Given the description of an element on the screen output the (x, y) to click on. 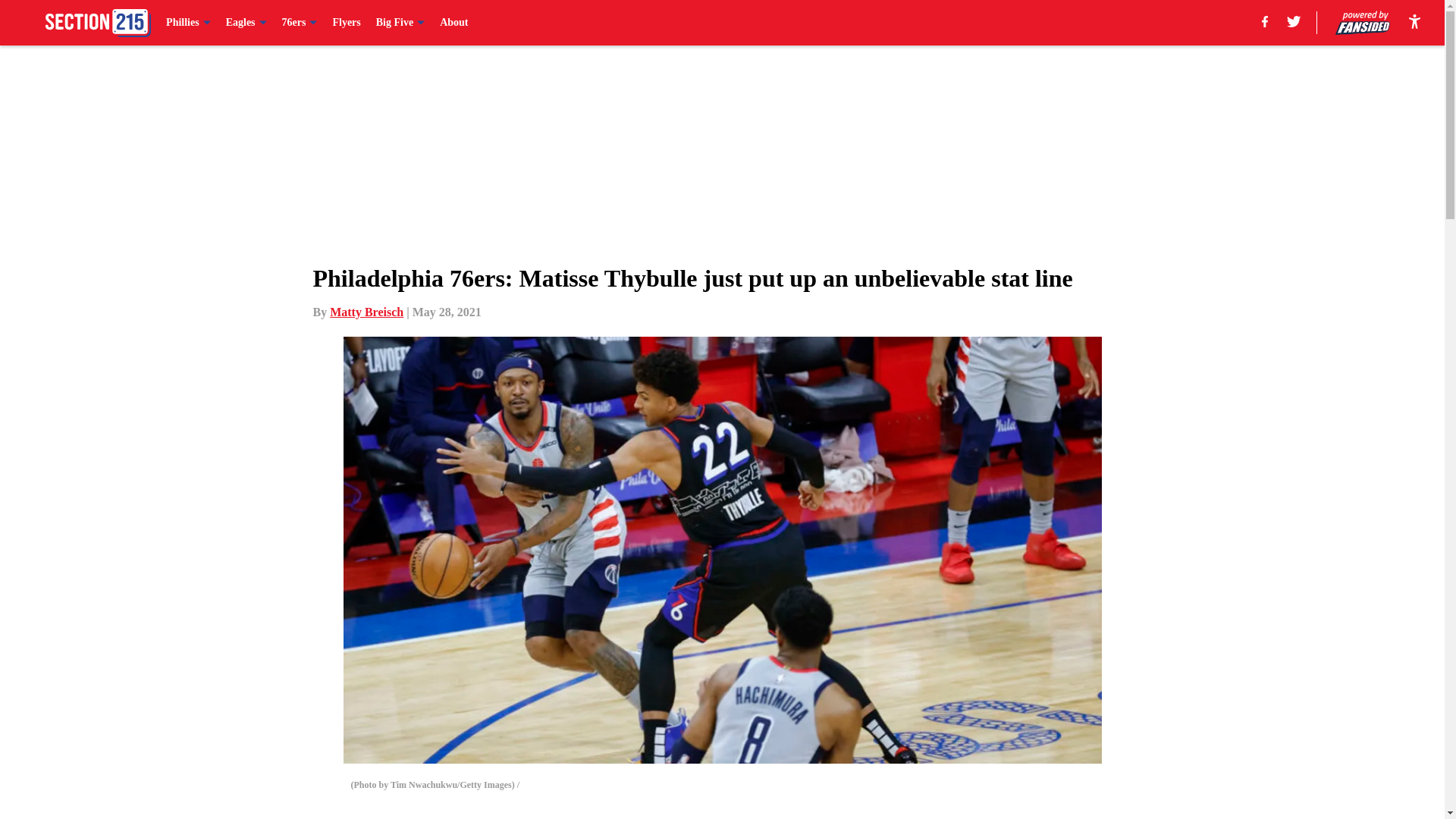
Matty Breisch (366, 311)
Flyers (345, 22)
About (453, 22)
